Given the description of an element on the screen output the (x, y) to click on. 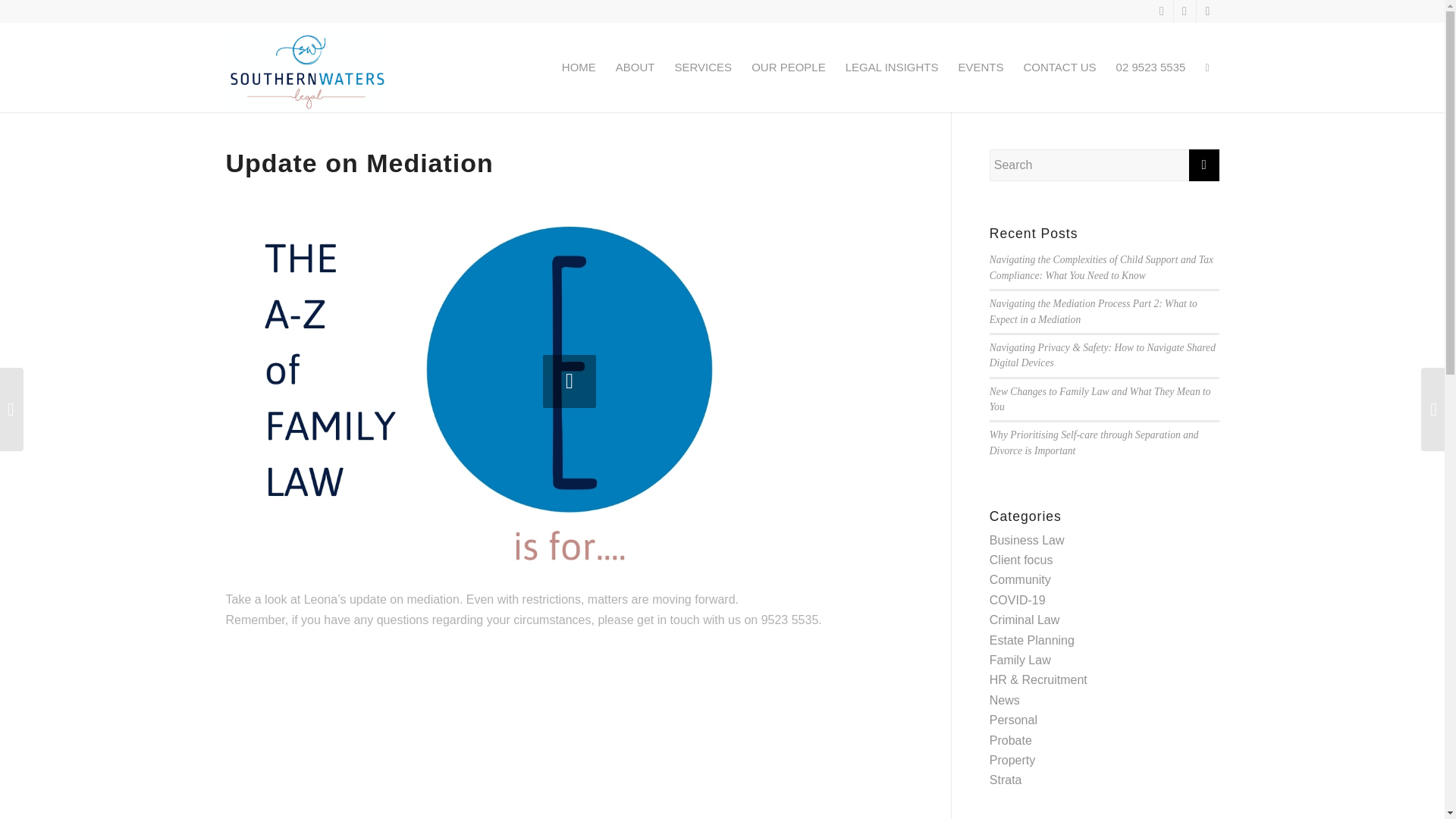
CONTACT US (1059, 67)
Client focus (1021, 559)
LEGAL INSIGHTS (892, 67)
Southern-water-logo-1 (306, 74)
Instagram (1208, 11)
Criminal Law (1024, 619)
02 9523 5535 (1150, 67)
LinkedIn (1184, 11)
